Given the description of an element on the screen output the (x, y) to click on. 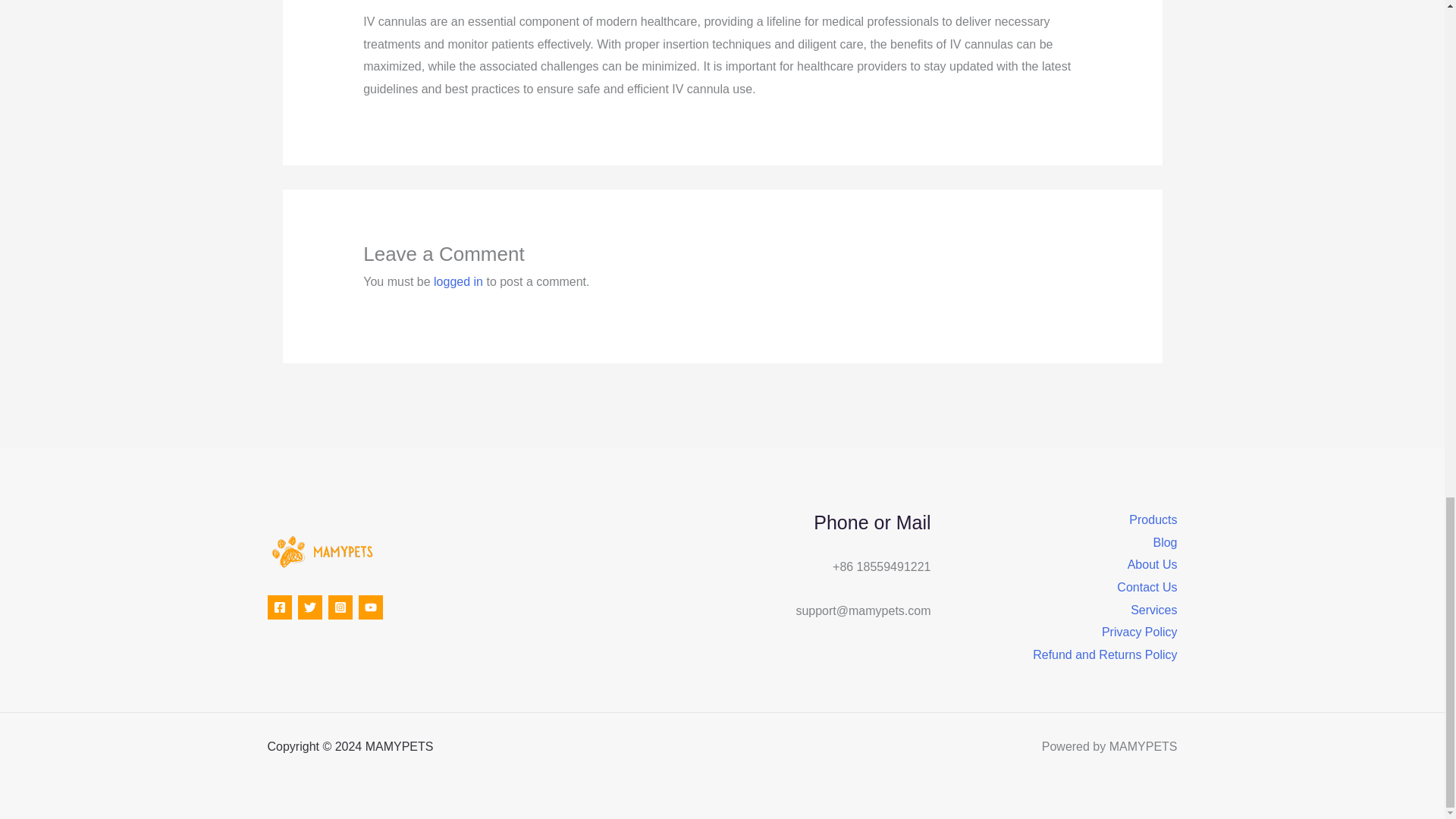
Contact Us (1146, 587)
logged in (458, 281)
Services (1153, 609)
About Us (1151, 564)
Products (1152, 519)
Blog (1164, 542)
Refund and Returns Policy (1104, 654)
Privacy Policy (1139, 631)
